Given the description of an element on the screen output the (x, y) to click on. 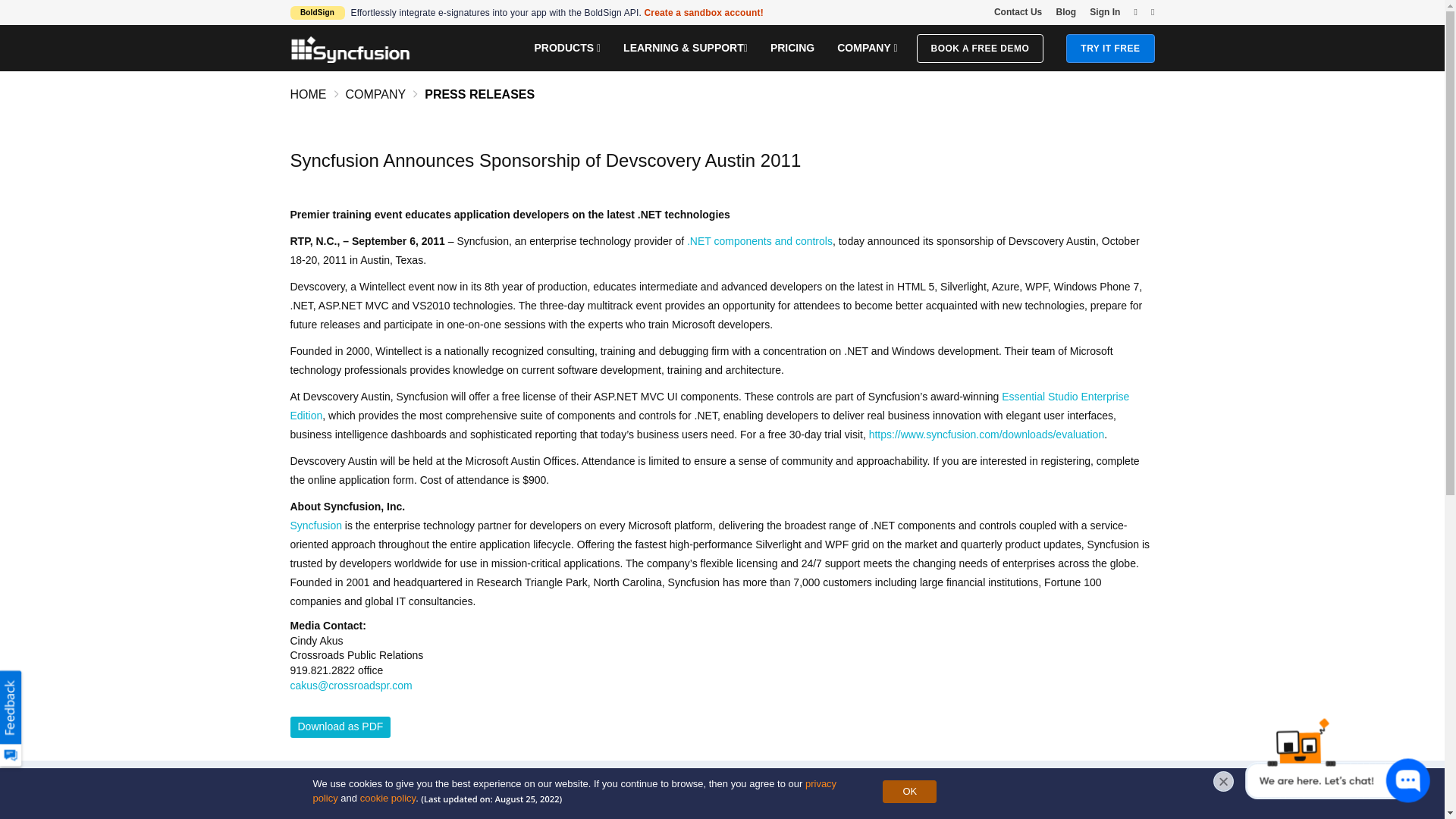
Create a sandbox account! (703, 12)
Sign In (1104, 11)
Contact Us (1018, 11)
Blog (1065, 11)
Syncfusion (349, 49)
OK (909, 791)
cookie policy (386, 797)
PRODUCTS (567, 47)
privacy policy (574, 791)
